Given the description of an element on the screen output the (x, y) to click on. 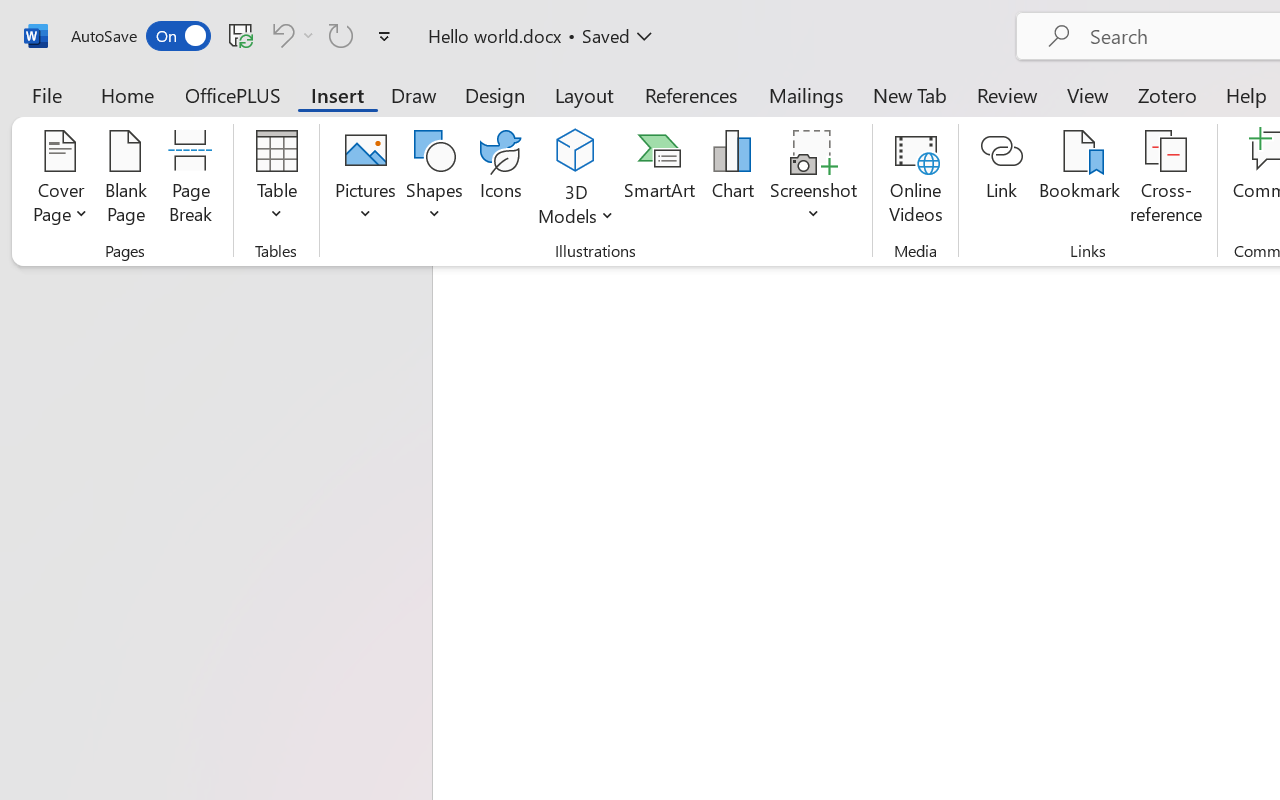
OfficePLUS (233, 94)
Draw (413, 94)
Mailings (806, 94)
Can't Repeat (341, 35)
AutoSave (140, 35)
Design (495, 94)
View (1087, 94)
